Given the description of an element on the screen output the (x, y) to click on. 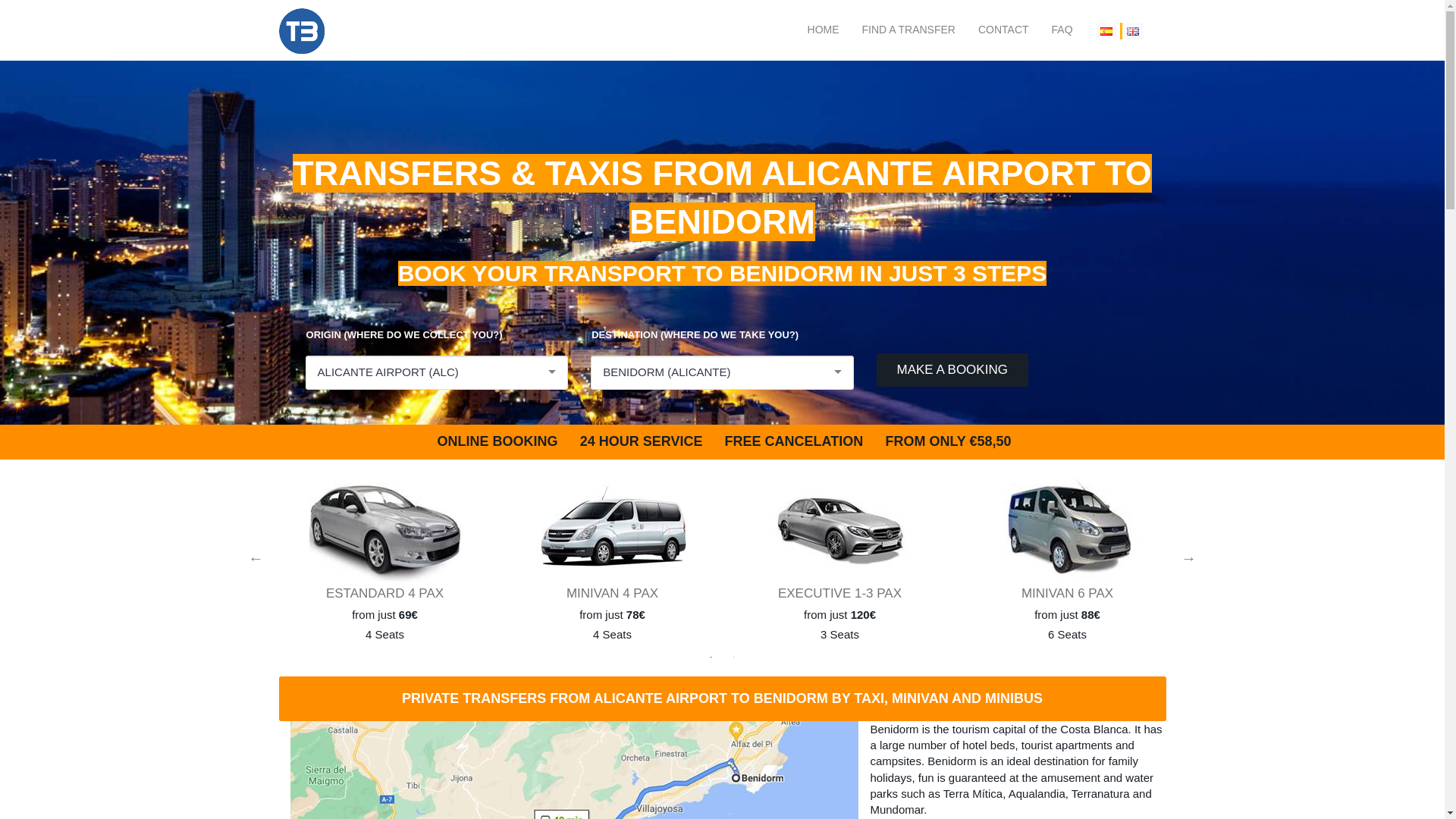
CONTACT (1003, 29)
www.transferbenidorm.com (301, 31)
Book your transfer online safely. (494, 441)
Make a booking (951, 369)
Contact (1003, 29)
Home (824, 29)
FAQ (1062, 29)
Service 24 hours a day with telephone attention. (639, 441)
Reserve now, limited time offer. (945, 441)
HOME (824, 29)
FAQ (1062, 29)
FIND A TRANSFER (908, 29)
NEXT (1188, 557)
Make a booking (951, 369)
Free cancellation up to 24 hours before the service. (791, 441)
